Given the description of an element on the screen output the (x, y) to click on. 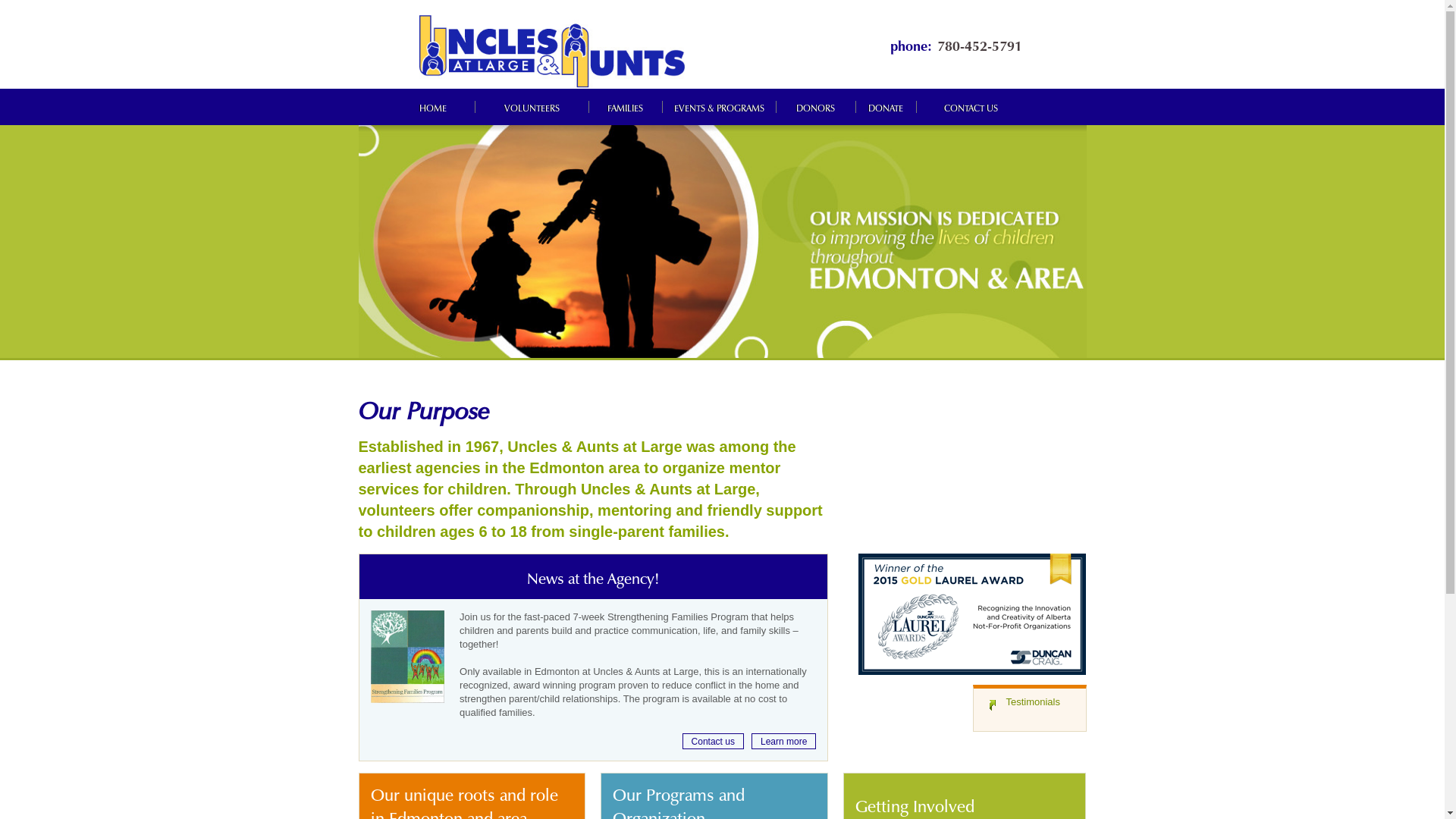
DONORS Element type: text (815, 106)
Learn more Element type: text (783, 741)
VOLUNTEERS Element type: text (531, 106)
Contact us Element type: text (712, 741)
FAMILIES Element type: text (625, 106)
EVENTS & PROGRAMS Element type: text (719, 106)
DONATE Element type: text (885, 106)
HOME Element type: text (431, 106)
CONTACT US Element type: text (970, 106)
780-452-5791 Element type: text (979, 43)
Testimonials Element type: text (1032, 701)
